Given the description of an element on the screen output the (x, y) to click on. 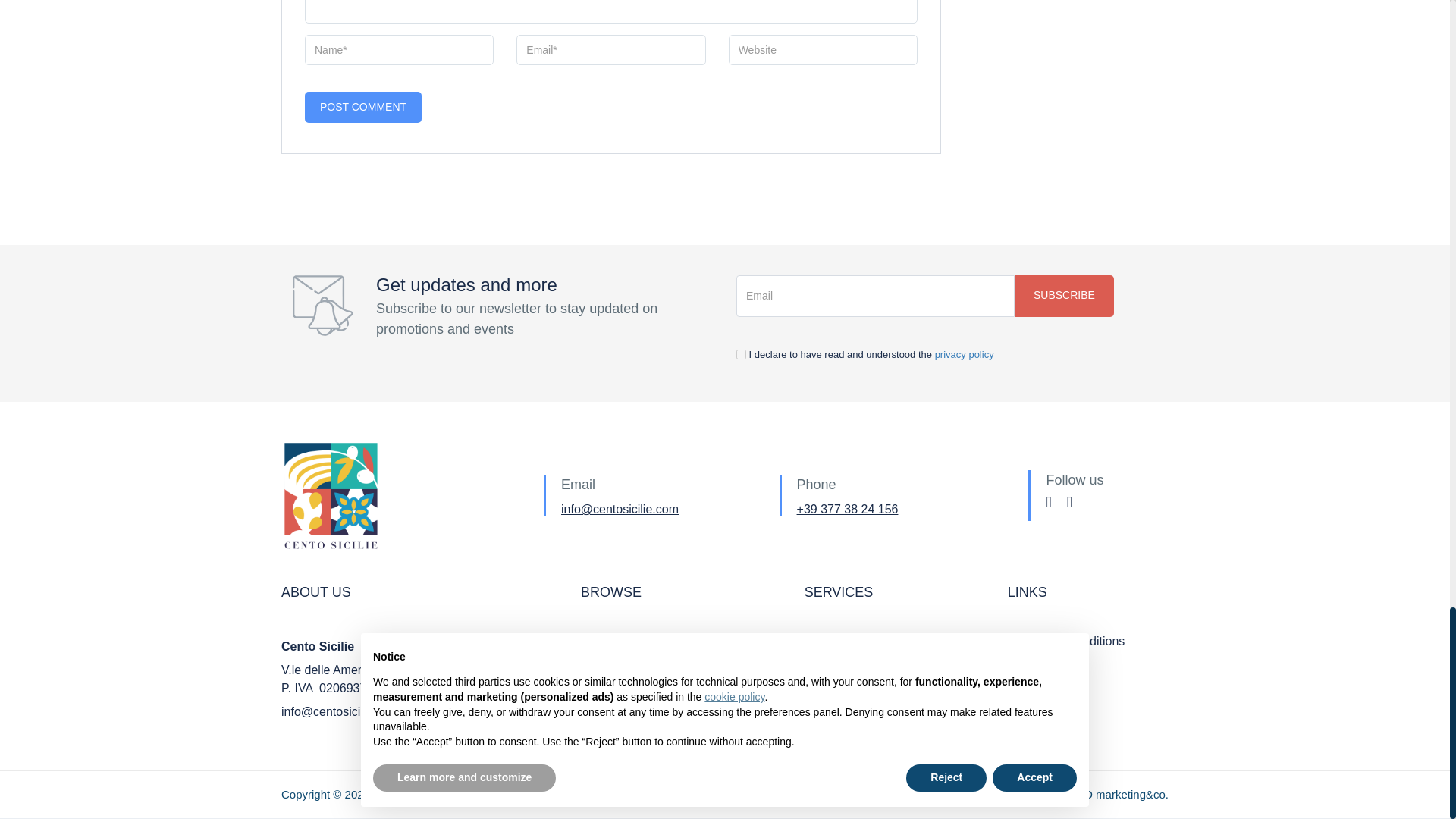
1 (740, 354)
SUBSCRIBE (1063, 295)
Cookie Policy  (1040, 689)
Post Comment (363, 106)
Post Comment (363, 106)
Privacy Policy  (1042, 666)
